Given the description of an element on the screen output the (x, y) to click on. 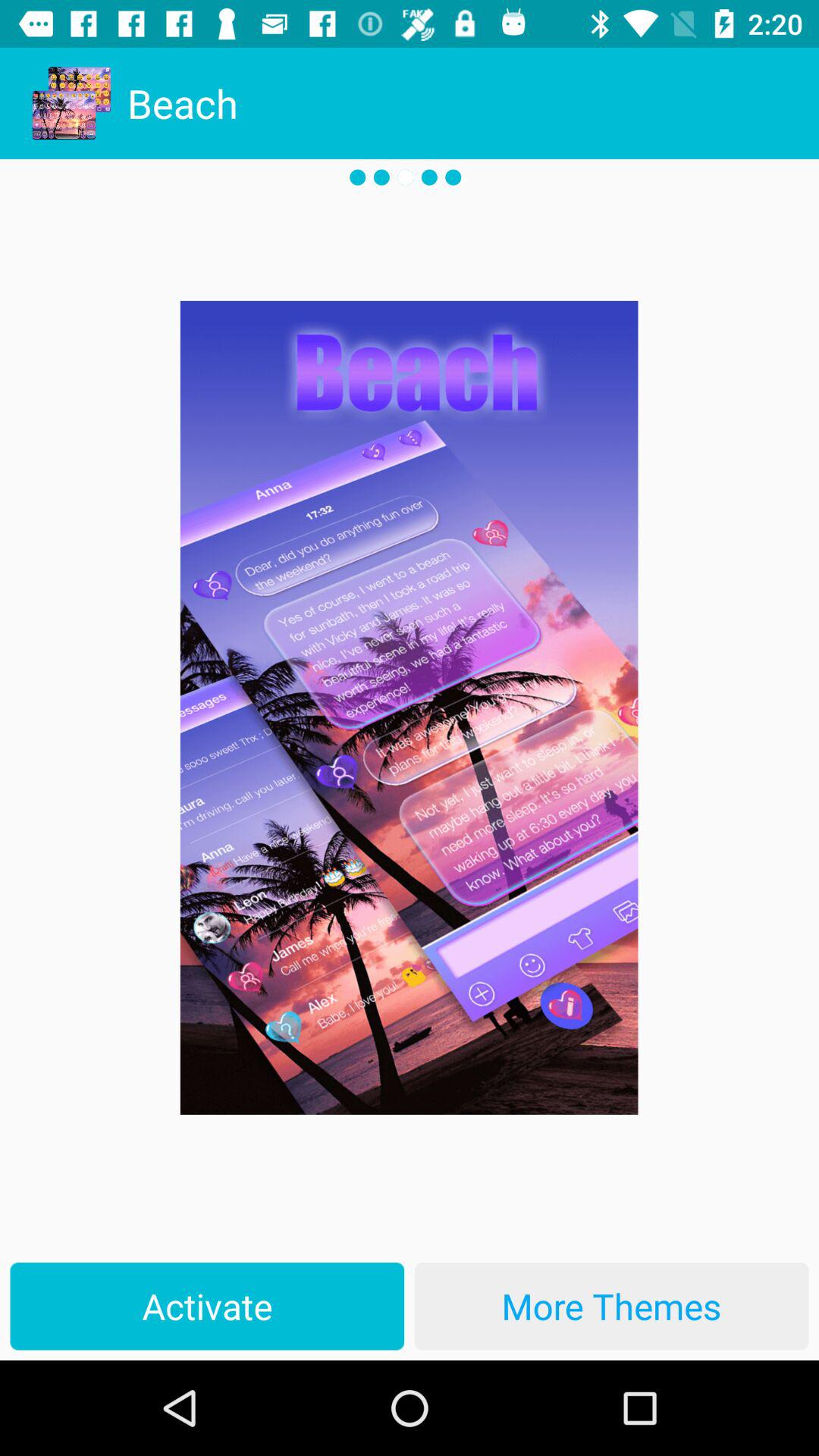
turn off the activate (207, 1306)
